Given the description of an element on the screen output the (x, y) to click on. 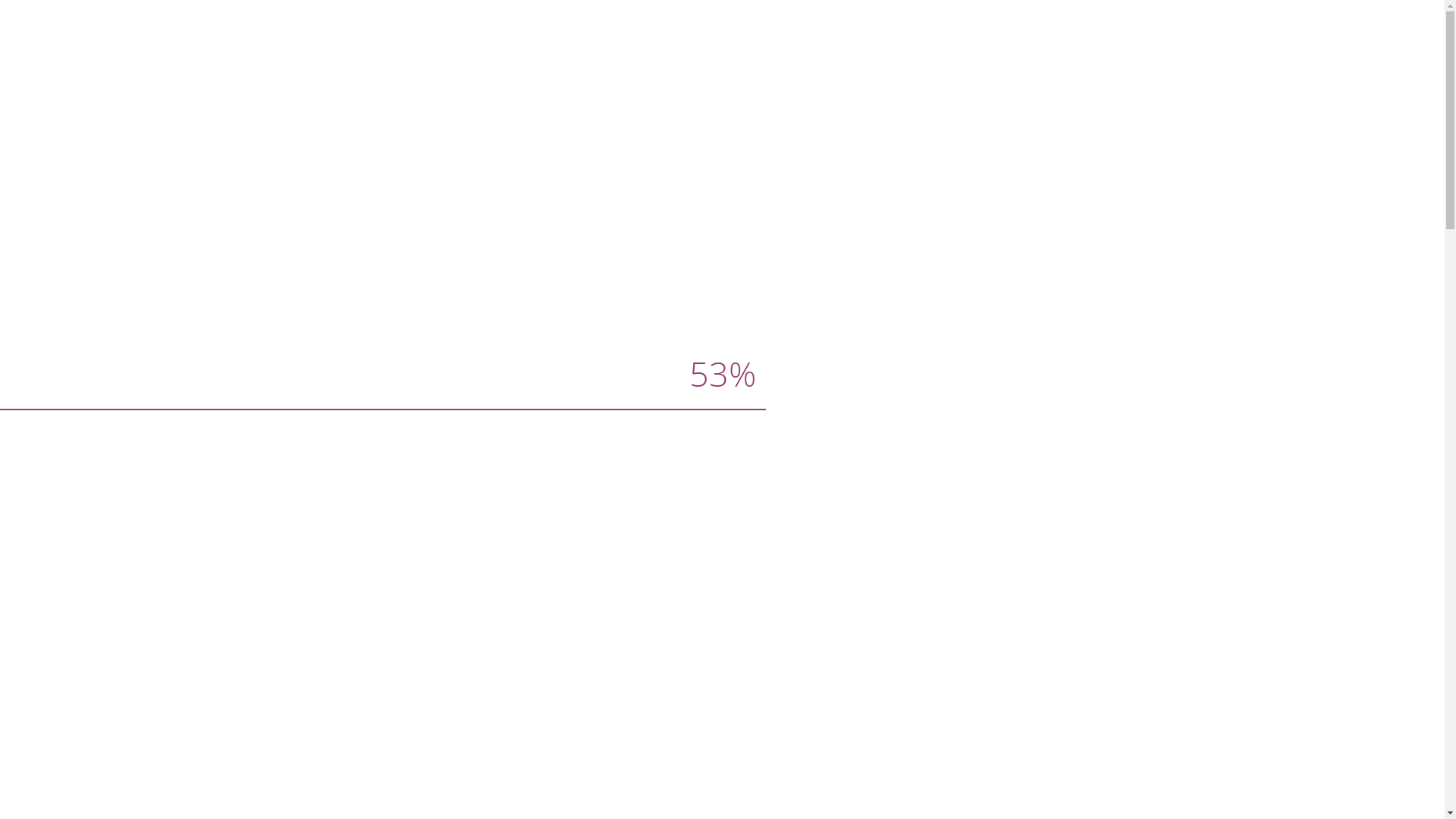
CONTACT Element type: text (1111, 24)
PowerPoint: Homelessness, Survival Sex and Pregnancy Element type: text (896, 129)
HOME Element type: text (1036, 24)
PowerPoint: Violence Does Not Stop at the Bedroom Door Element type: text (917, 392)
